Given the description of an element on the screen output the (x, y) to click on. 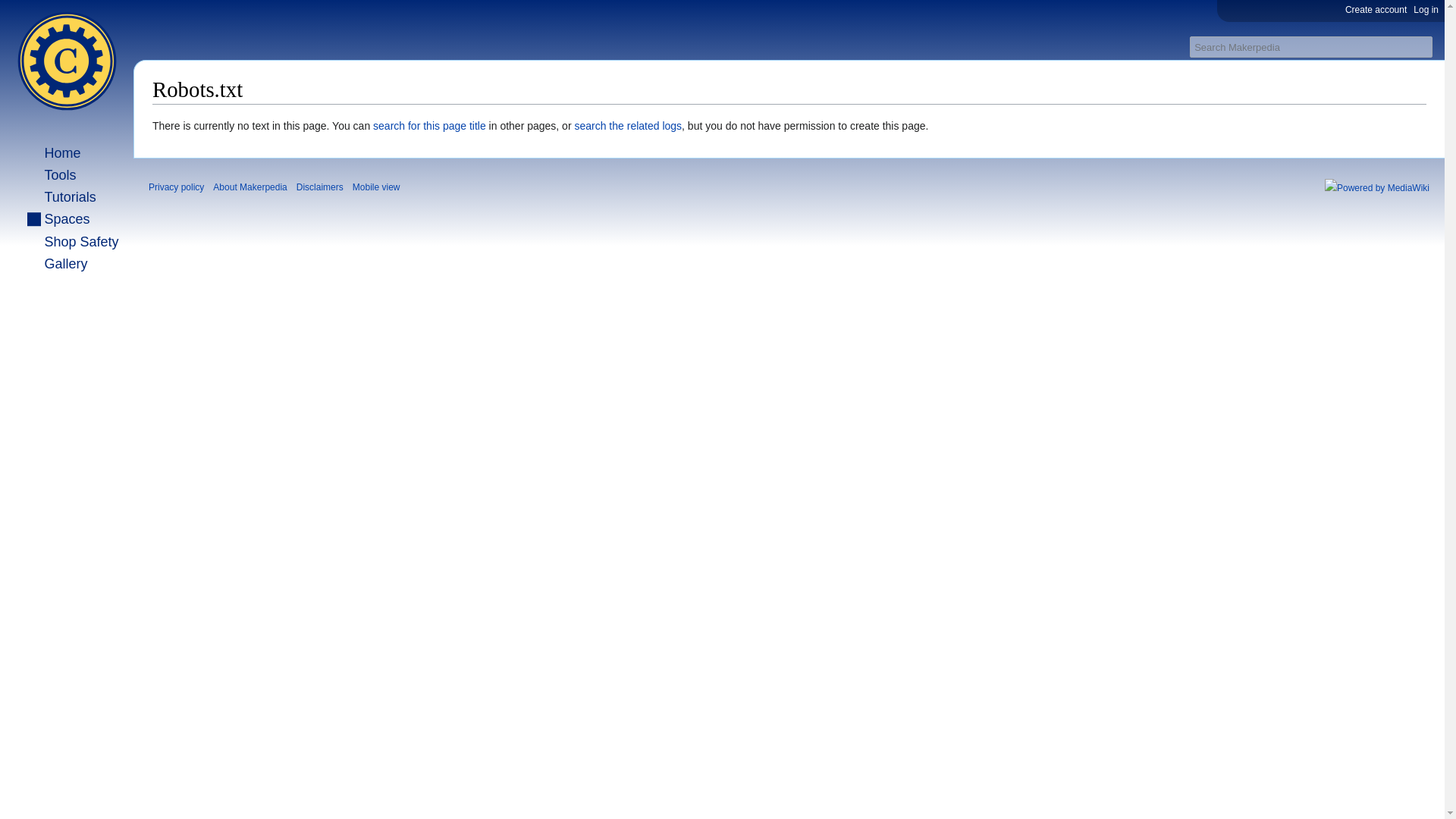
Tutorials Element type: text (61, 196)
Mobile view Element type: text (376, 187)
Create account Element type: text (1375, 9)
Search Makerpedia [f] Element type: hover (1310, 46)
Jump to navigation Element type: text (151, 116)
Tools Element type: text (51, 174)
Search the pages for this text Element type: hover (1420, 46)
search the related logs Element type: text (627, 125)
Privacy policy Element type: text (175, 187)
Gallery Element type: text (57, 263)
Search Element type: text (1420, 46)
About Makerpedia Element type: text (249, 187)
search for this page title Element type: text (429, 125)
Shop Safety Element type: text (73, 241)
Home Element type: text (54, 152)
Disclaimers Element type: text (319, 187)
Log in Element type: text (1425, 9)
Spaces Element type: text (58, 218)
Visit the main page Element type: hover (66, 60)
